Given the description of an element on the screen output the (x, y) to click on. 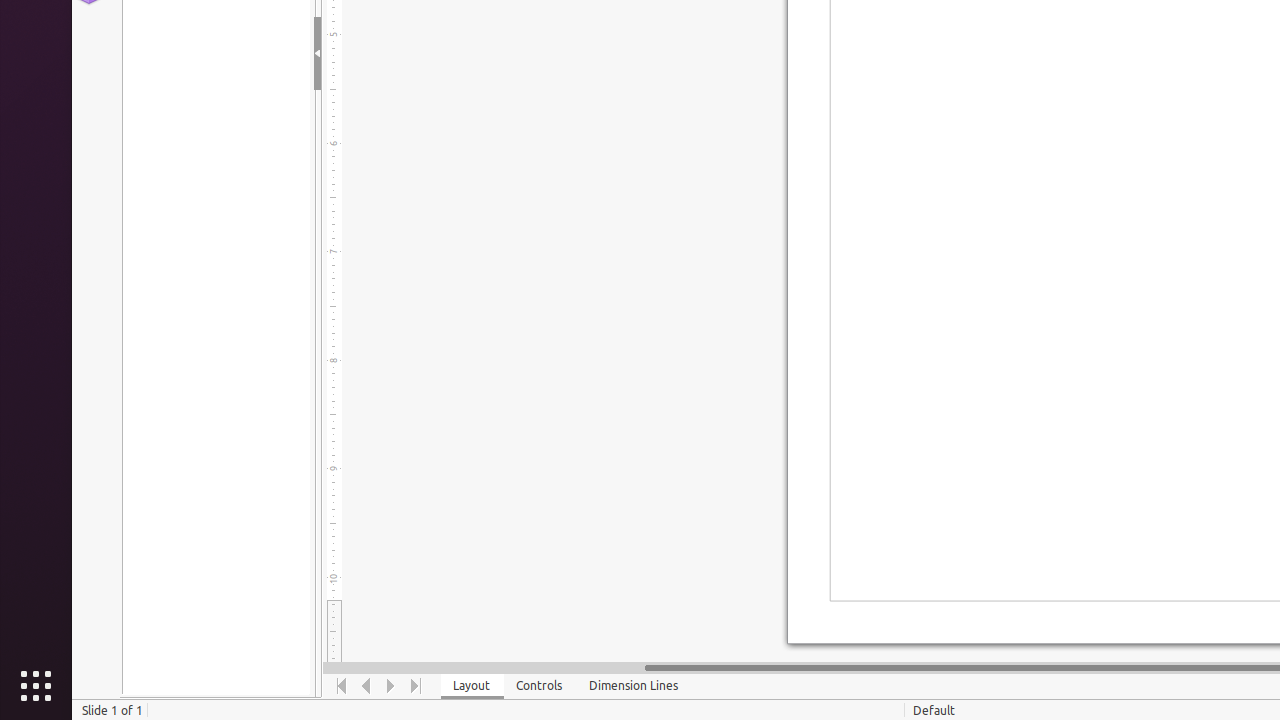
Layout Element type: page-tab (472, 686)
Dimension Lines Element type: page-tab (634, 686)
Show Applications Element type: toggle-button (36, 686)
